Given the description of an element on the screen output the (x, y) to click on. 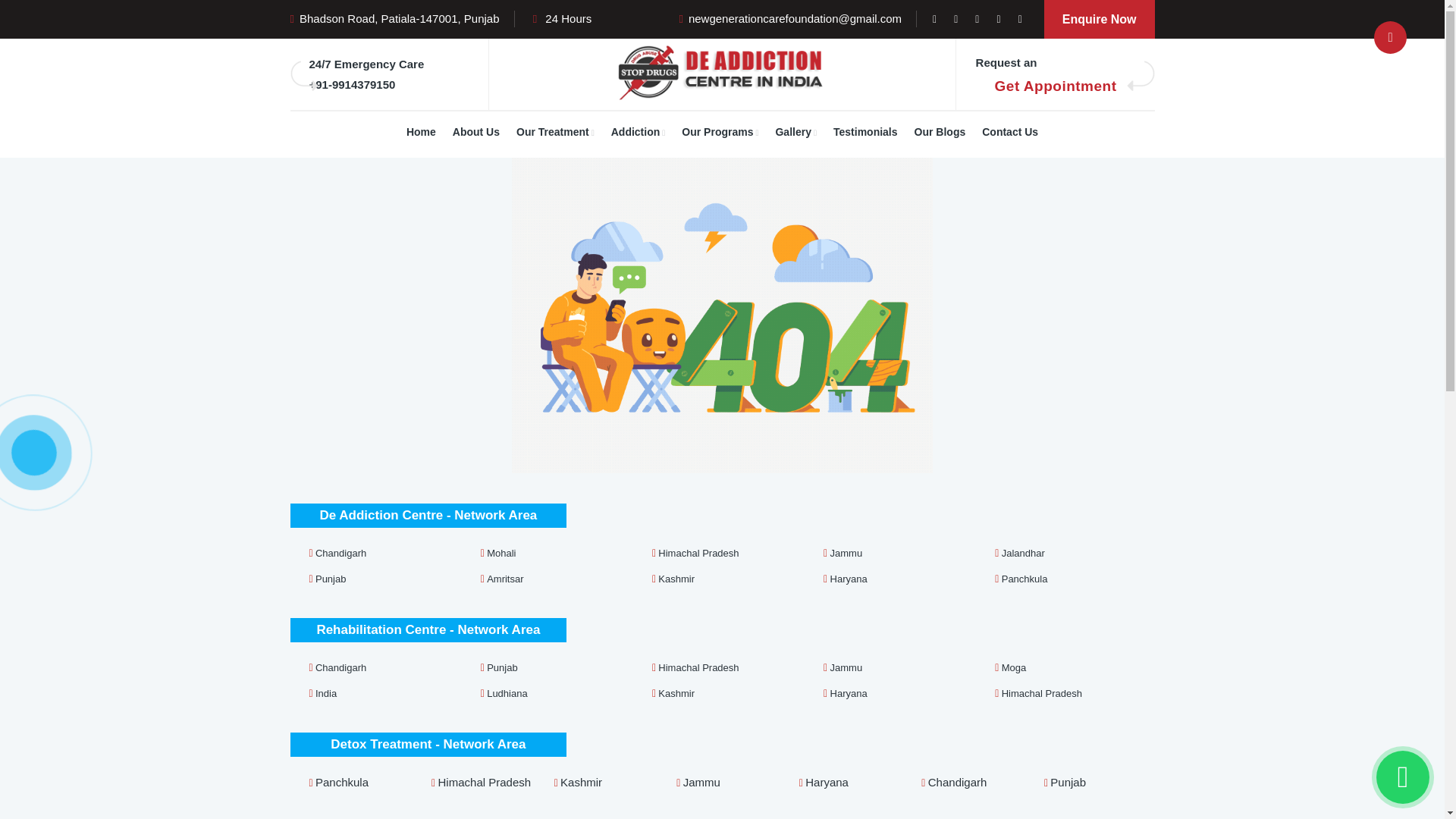
Enquire Now (1098, 19)
Our Programs (719, 132)
Home (420, 134)
Our Treatment (555, 132)
About Us (476, 134)
Addiction (638, 132)
